Given the description of an element on the screen output the (x, y) to click on. 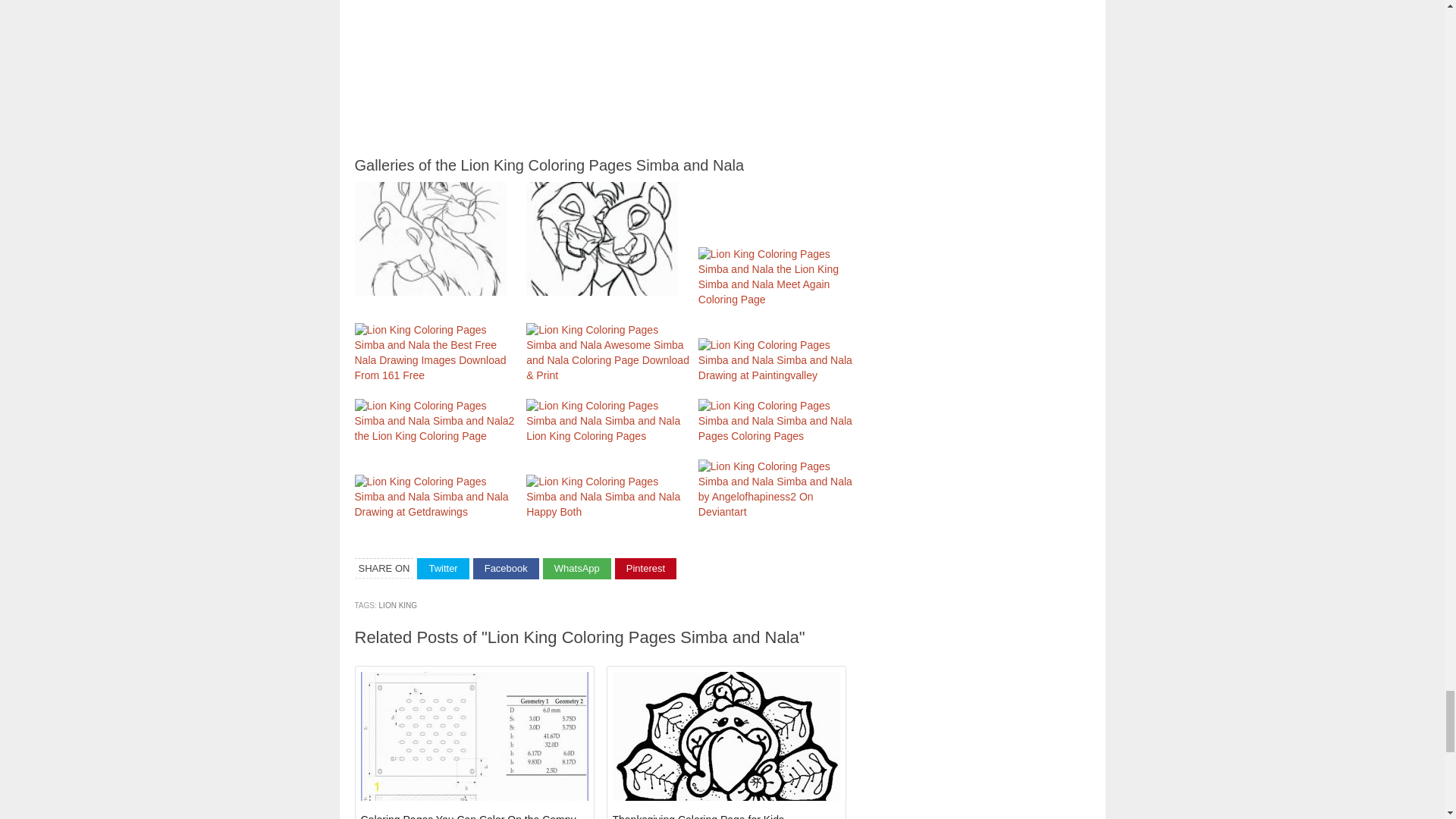
Pinterest (645, 568)
Coloring Pages You Can Color On the Computer (475, 816)
Facebook (505, 568)
LION KING (397, 605)
Twitter (442, 568)
WhatsApp (577, 568)
Thanksgiving Coloring Page for Kids (698, 816)
